Given the description of an element on the screen output the (x, y) to click on. 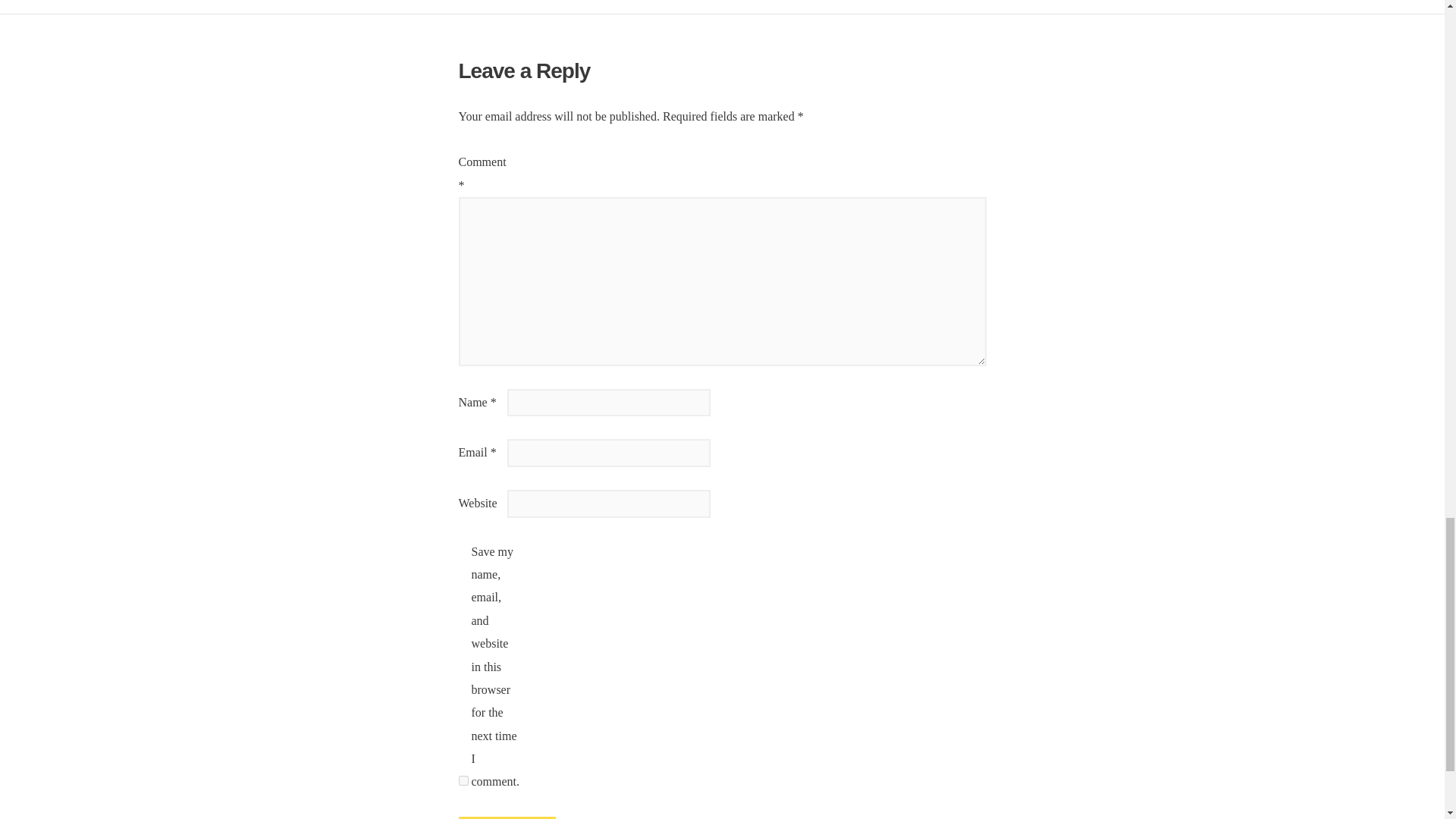
Post Comment (506, 817)
yes (462, 780)
